Given the description of an element on the screen output the (x, y) to click on. 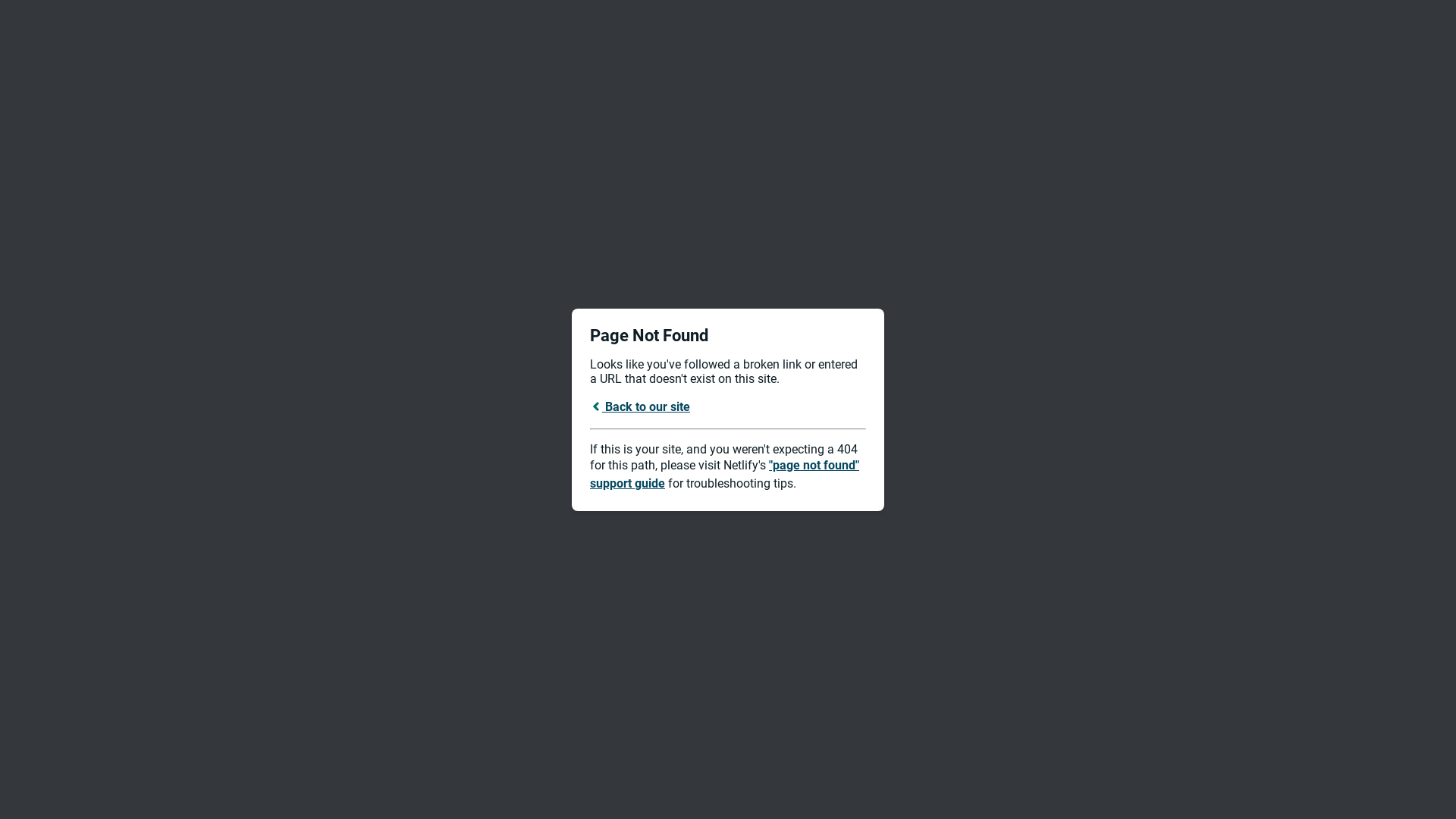
Back to our site Element type: text (639, 405)
"page not found" support guide Element type: text (724, 474)
